Given the description of an element on the screen output the (x, y) to click on. 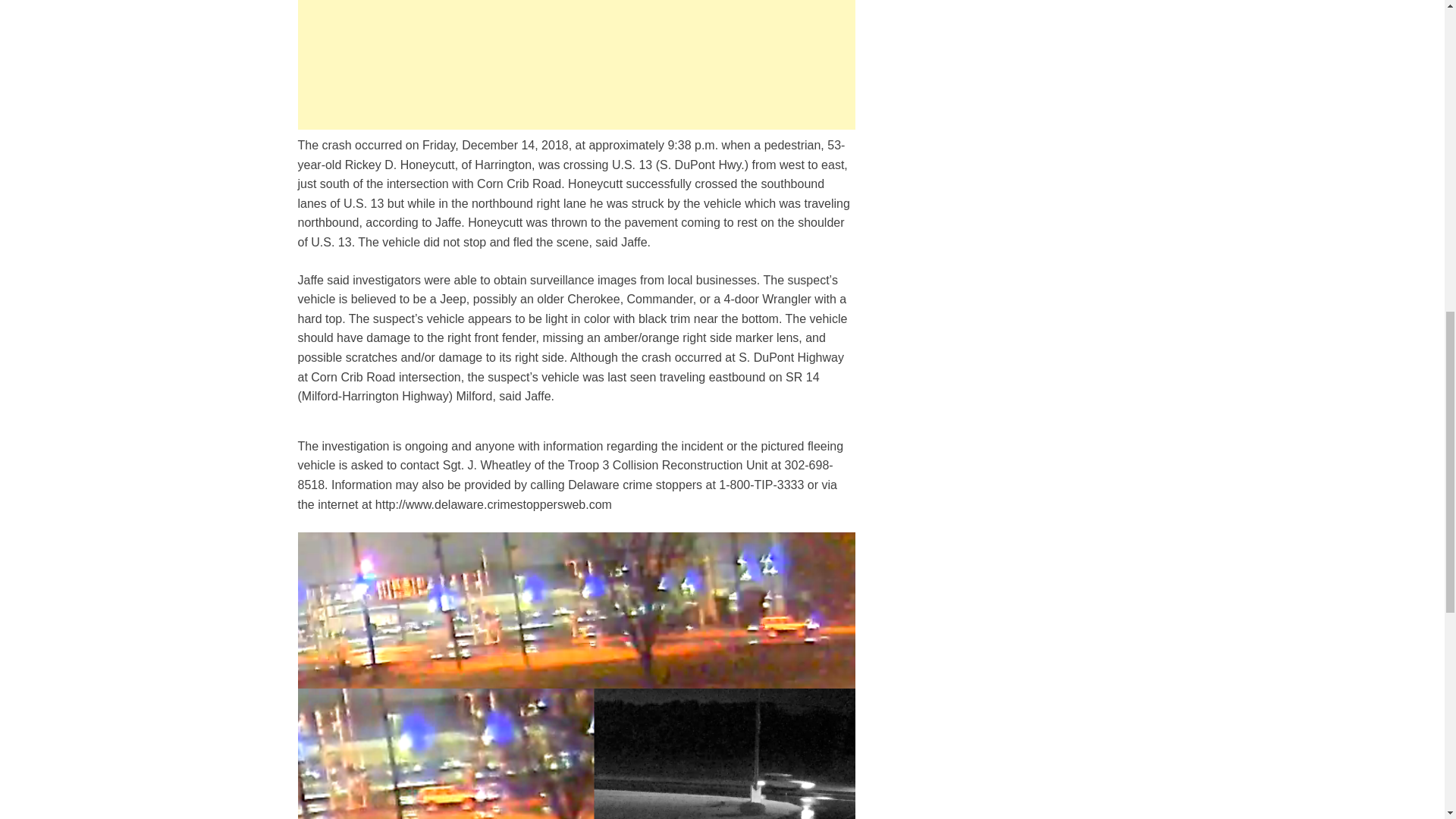
Advertisement (575, 64)
